Given the description of an element on the screen output the (x, y) to click on. 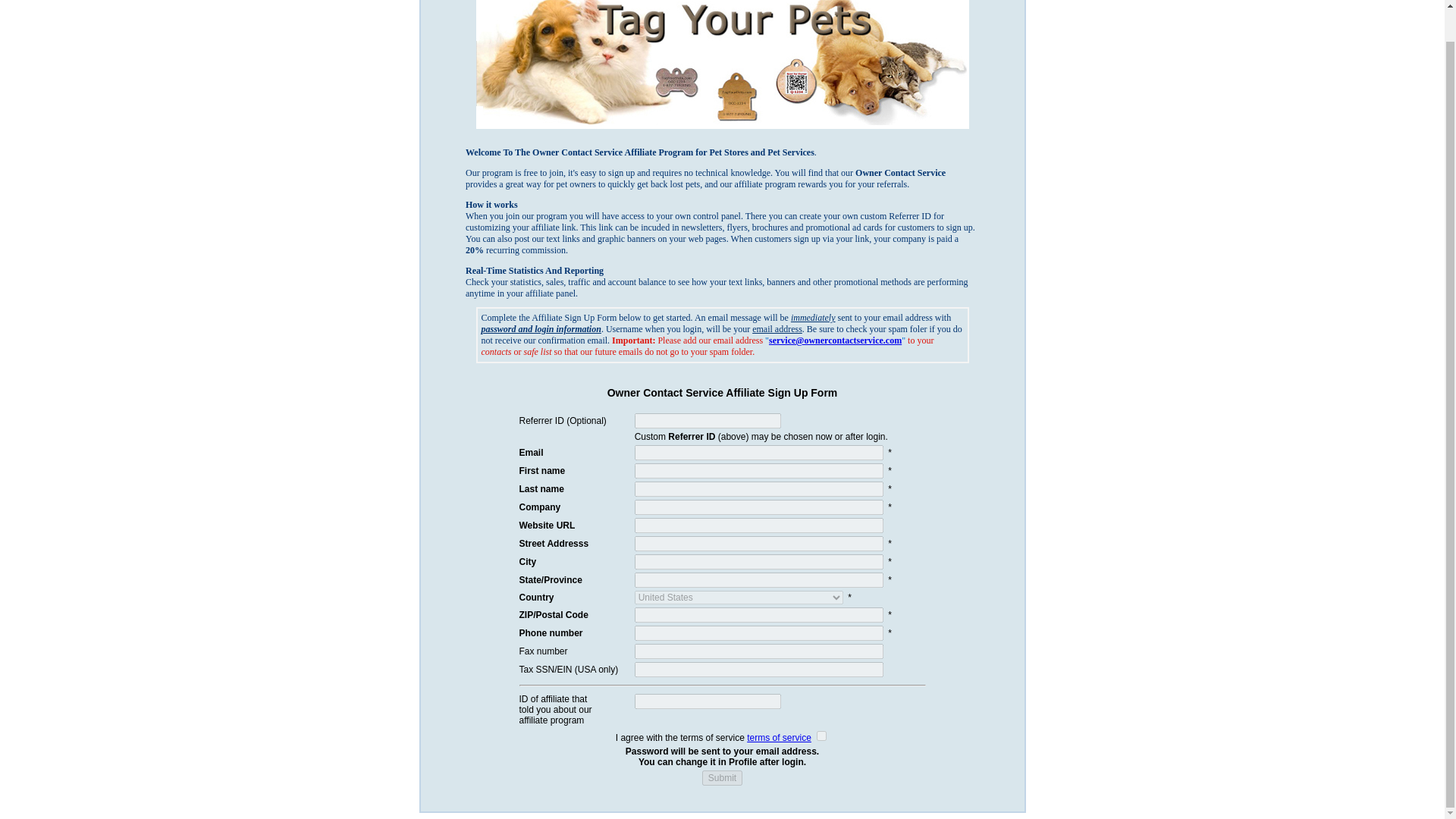
1 (821, 736)
Submit (721, 777)
terms of service (778, 737)
Submit (721, 777)
